Given the description of an element on the screen output the (x, y) to click on. 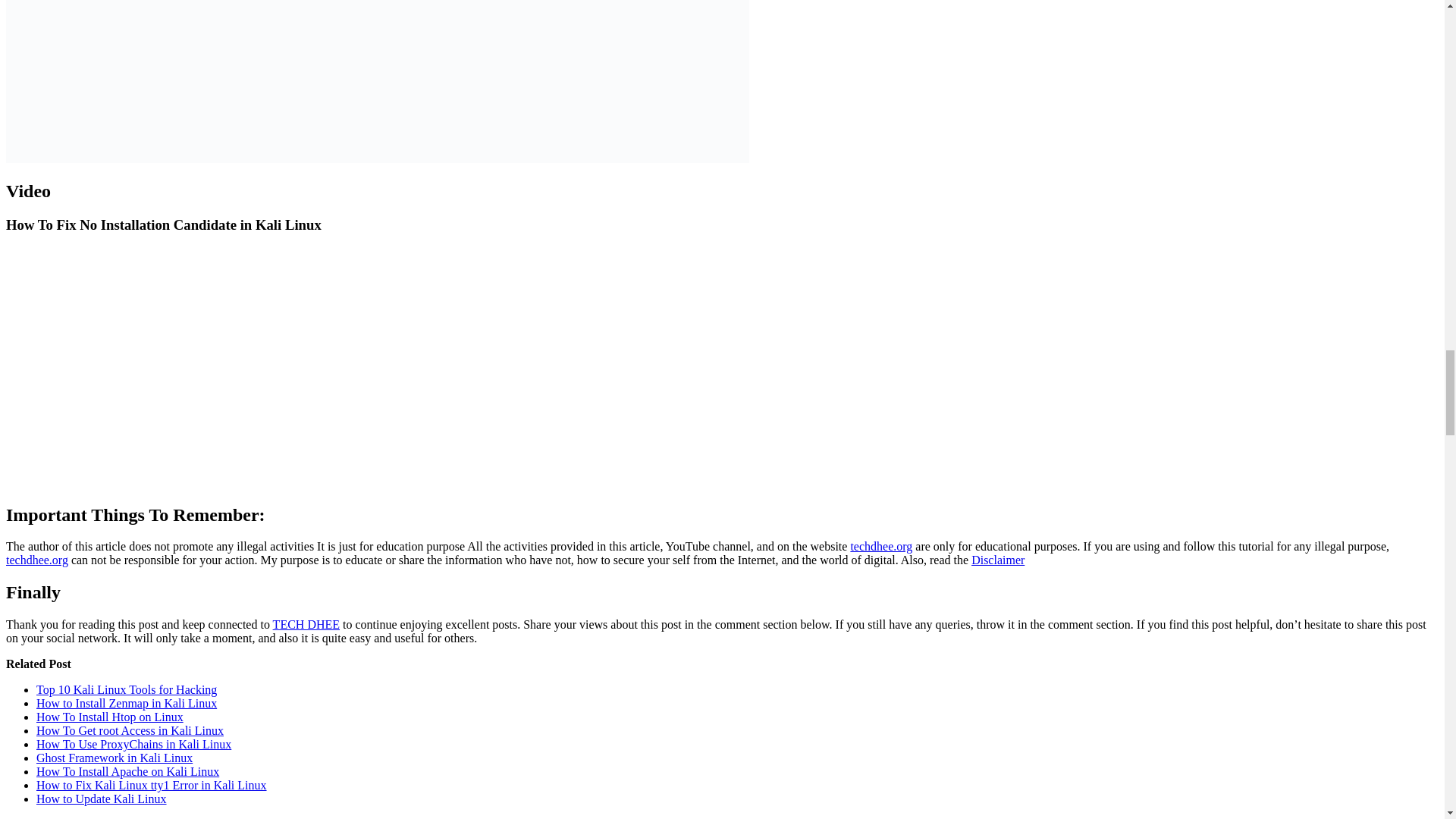
How to Install Zenmap in Kali Linux (126, 703)
How To Use ProxyChains in Kali Linux (133, 744)
TECH DHEE (306, 624)
techdhee.org (881, 545)
How To Get root Access in Kali Linux (130, 730)
How To Install Htop on Linux (109, 716)
techdhee.org (36, 559)
Disclaimer (998, 559)
Top 10 Kali Linux Tools for Hacking (126, 689)
